Given the description of an element on the screen output the (x, y) to click on. 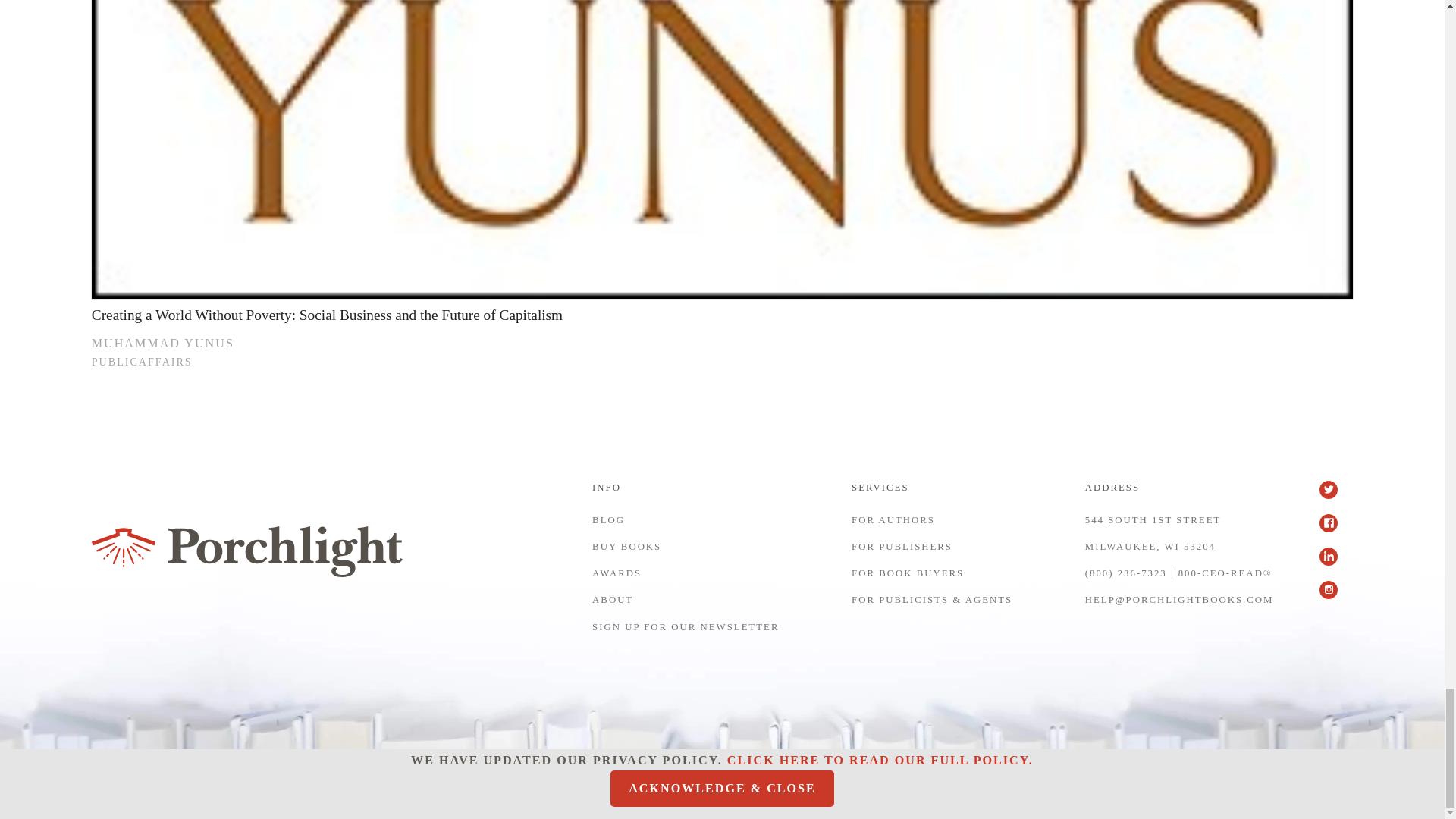
Twitter (1335, 497)
Facebook (1335, 530)
LinkedIn (1335, 563)
Instagram (1335, 597)
